Given the description of an element on the screen output the (x, y) to click on. 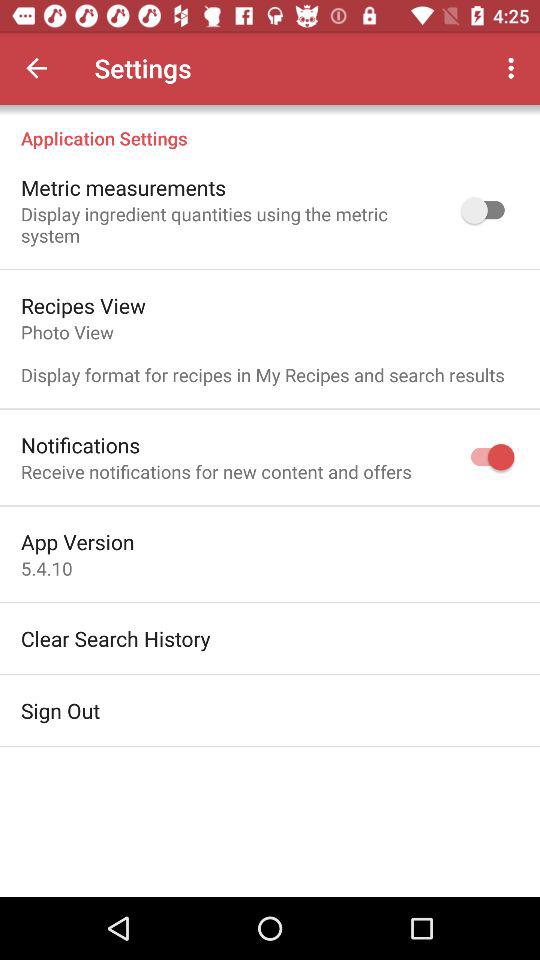
click the item below app version (46, 568)
